Given the description of an element on the screen output the (x, y) to click on. 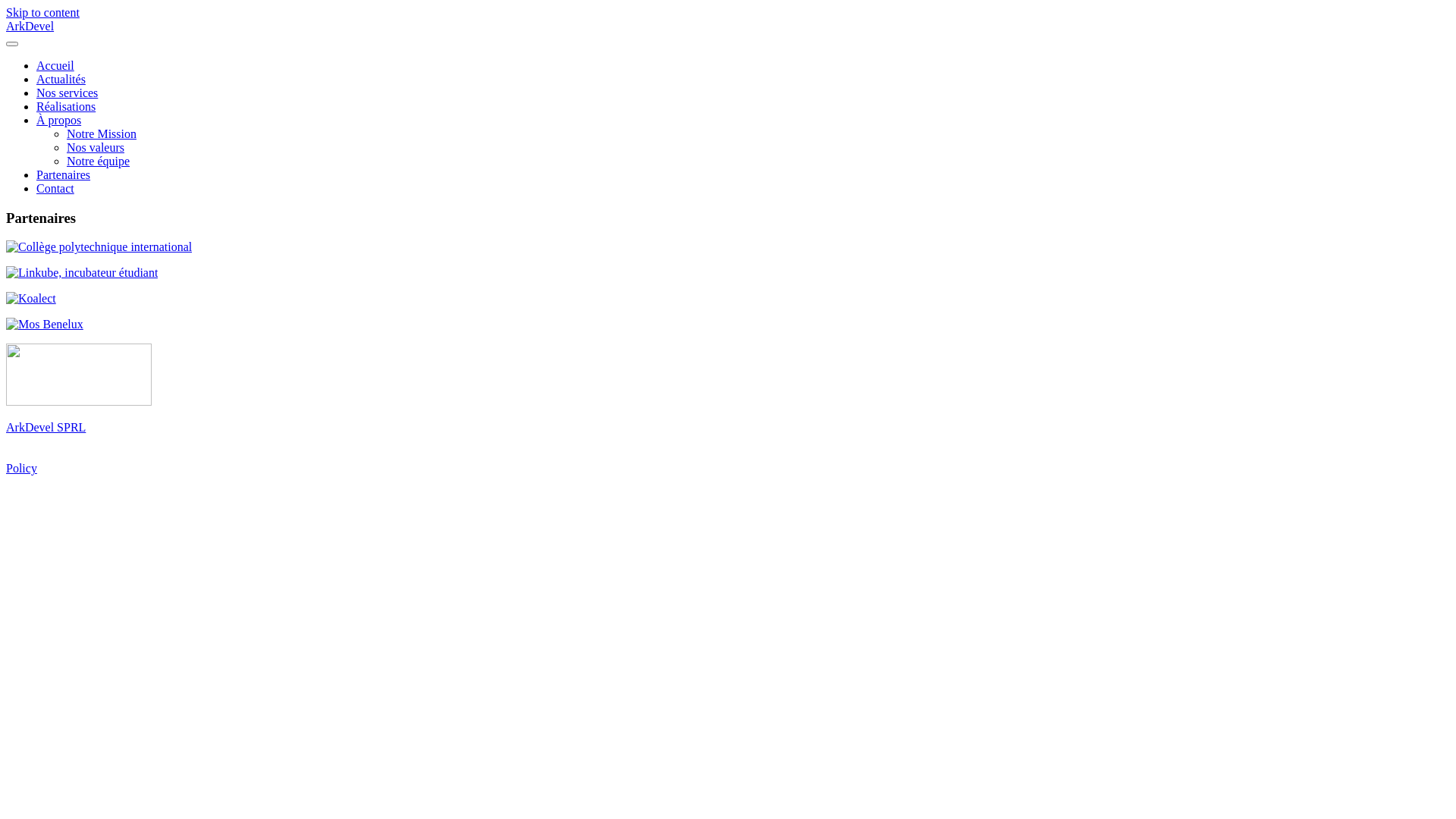
ArkDevel SPRL Element type: text (45, 426)
Contact Element type: text (55, 188)
Notre Mission Element type: text (101, 133)
ArkDevel Element type: text (29, 25)
Skip to content Element type: text (42, 12)
Partenaires Element type: text (63, 174)
Accueil Element type: text (55, 65)
Nos services Element type: text (66, 92)
Policy Element type: text (21, 467)
Nos valeurs Element type: text (95, 147)
